Given the description of an element on the screen output the (x, y) to click on. 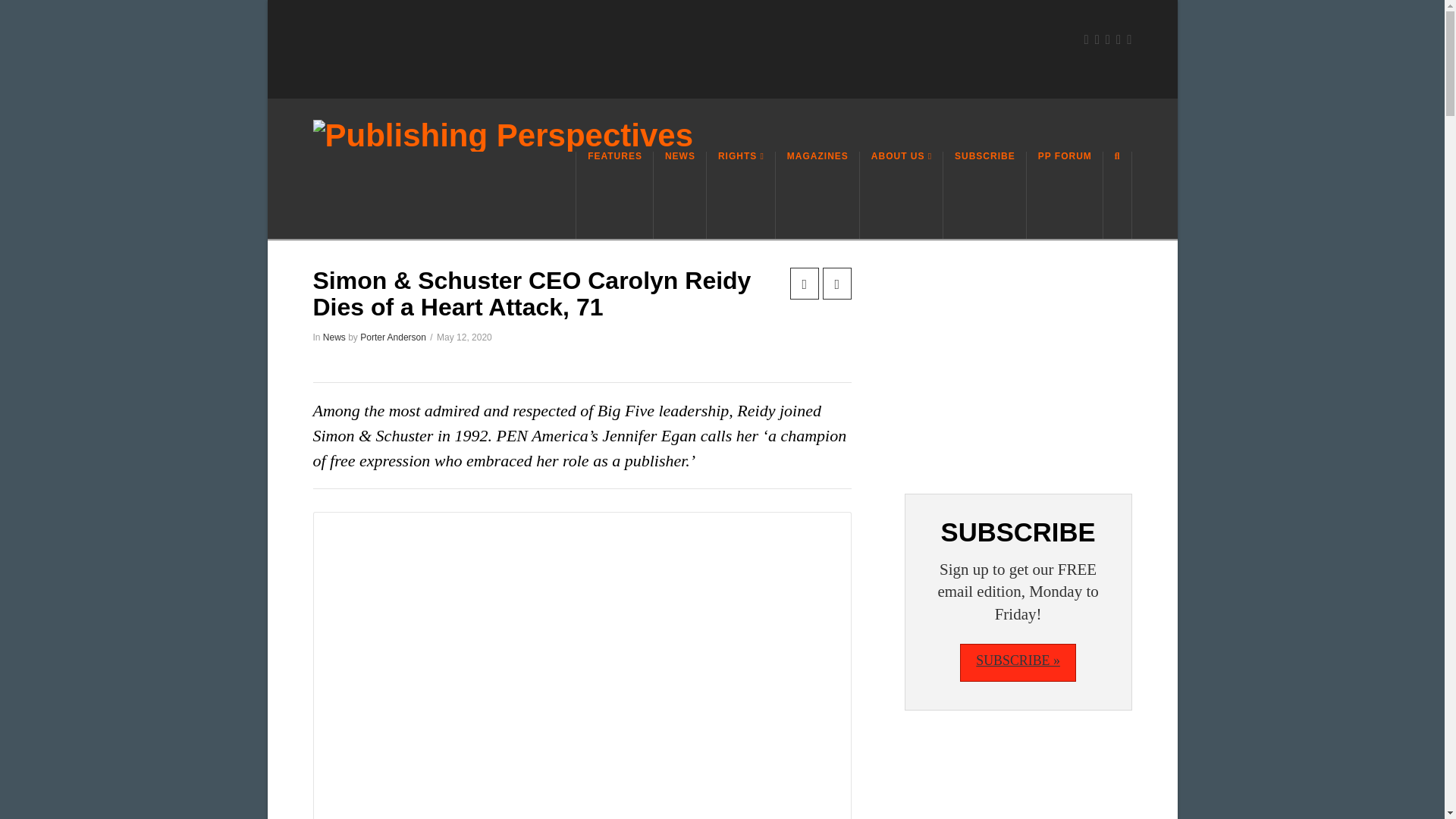
Porter Anderson (392, 337)
SUBSCRIBE (984, 195)
News (334, 337)
MAGAZINES (818, 195)
FEATURES (614, 195)
ABOUT US (901, 195)
